Given the description of an element on the screen output the (x, y) to click on. 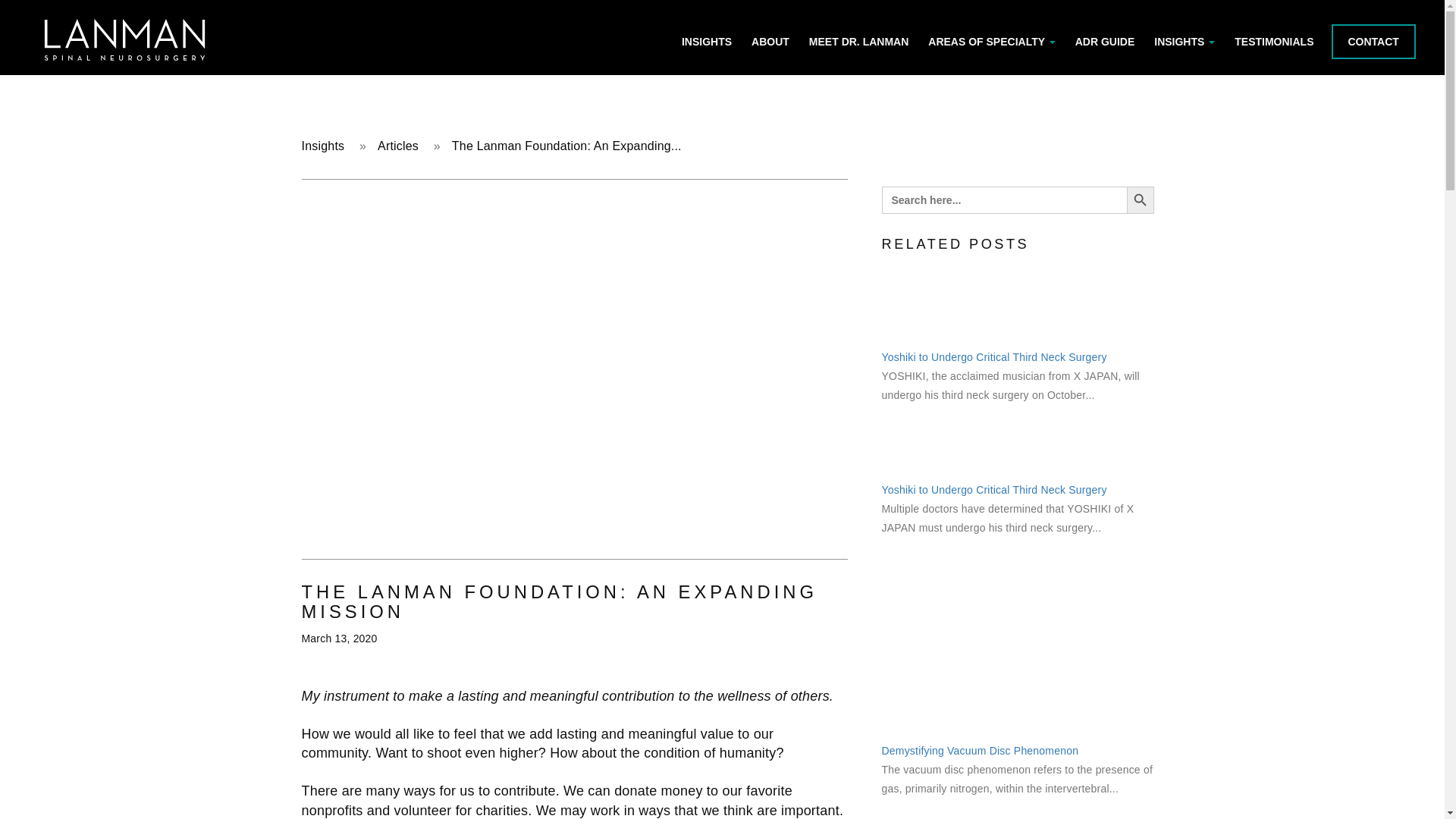
ADR Guide (1104, 41)
Insights (323, 146)
CONTACT (1373, 41)
Areas Of Specialty (991, 41)
Testimonials (1273, 41)
INSIGHTS (1184, 41)
Yoshiki to Undergo Critical Third Neck Surgery (993, 490)
AREAS OF SPECIALTY (991, 41)
Search Button (1140, 199)
Demystifying Vacuum Disc Phenomenon (979, 750)
